Given the description of an element on the screen output the (x, y) to click on. 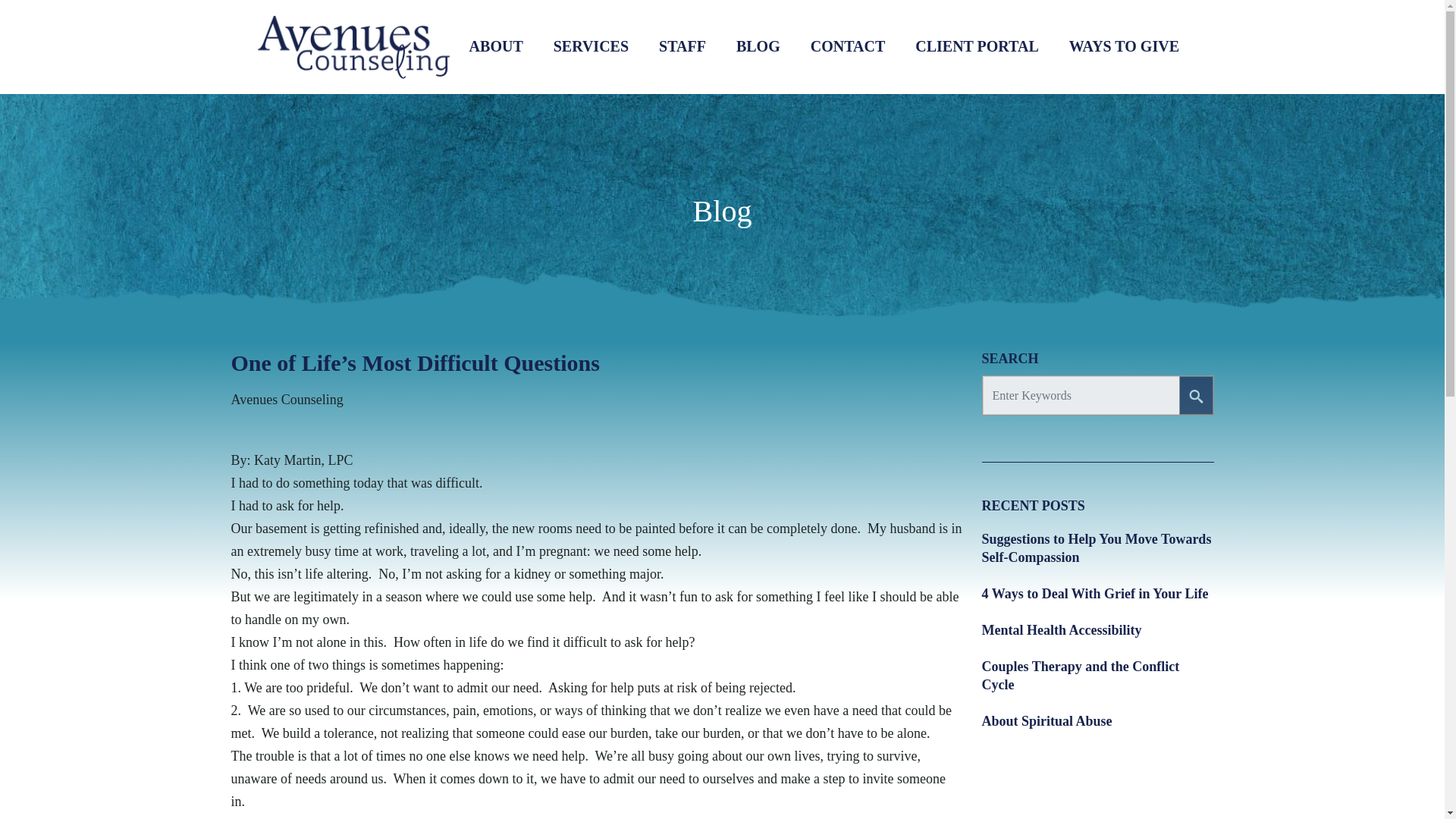
CONTACT (847, 45)
CLIENT PORTAL (976, 45)
SERVICES (590, 45)
4 Ways to Deal With Grief in Your Life (1094, 593)
Suggestions to Help You Move Towards Self-Compassion (1096, 547)
About Spiritual Abuse (1046, 720)
Avenues Counseling (286, 399)
BLOG (758, 45)
WAYS TO GIVE (1123, 45)
STAFF (682, 45)
ABOUT (495, 45)
Mental Health Accessibility (1061, 629)
Couples Therapy and the Conflict Cycle (1096, 675)
